Given the description of an element on the screen output the (x, y) to click on. 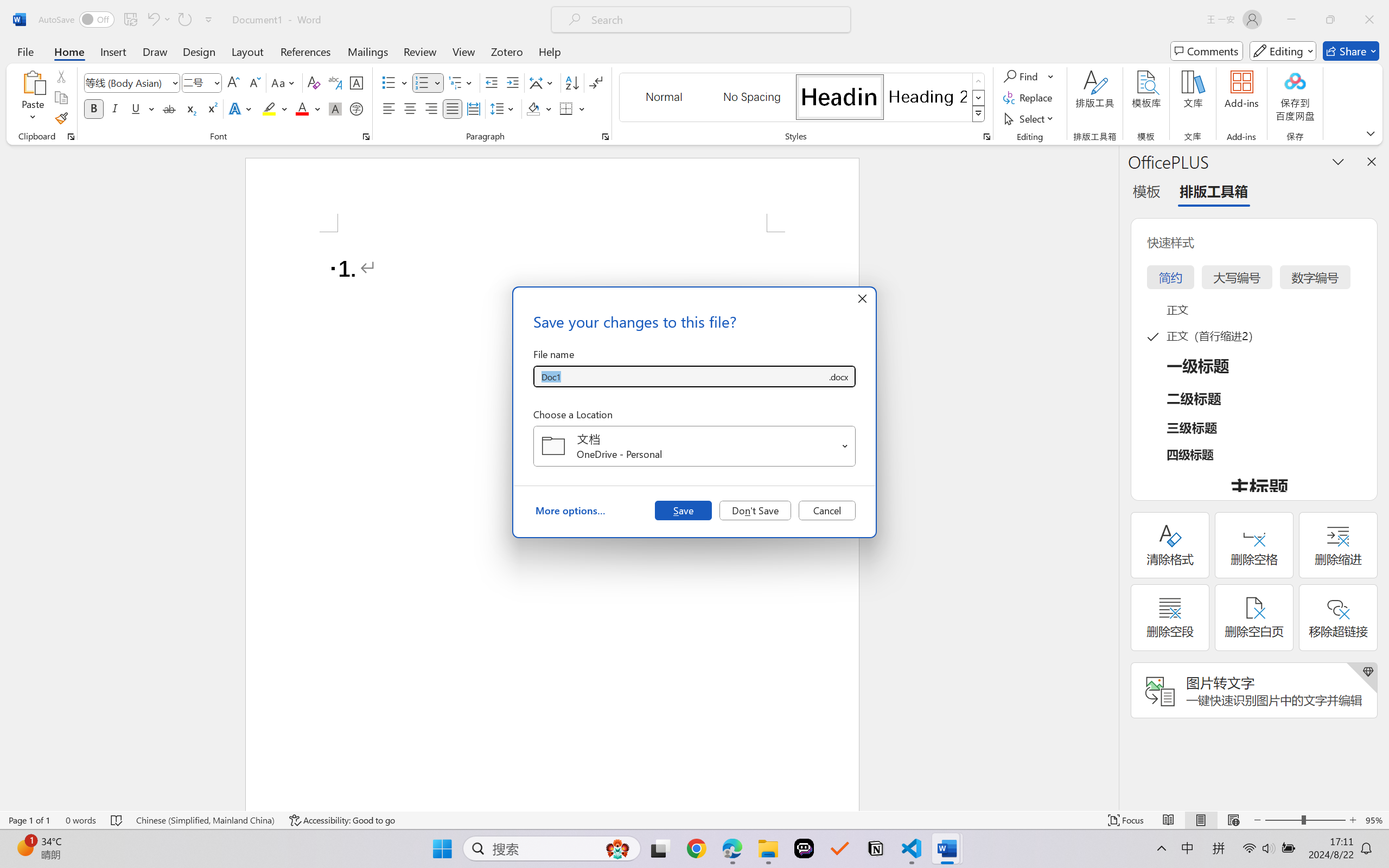
Class: MsoCommandBar (694, 819)
